Given the description of an element on the screen output the (x, y) to click on. 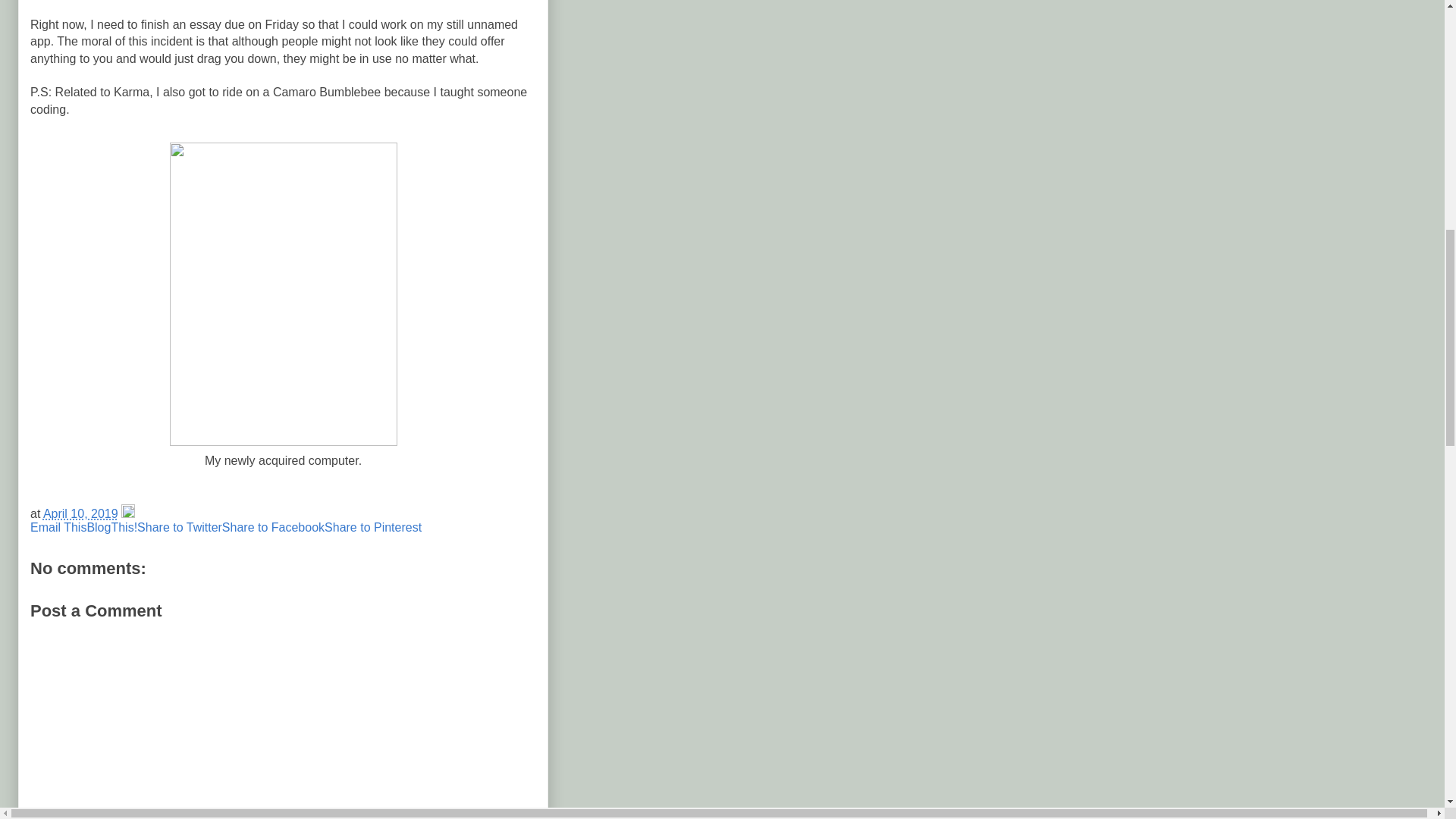
BlogThis! (110, 526)
permanent link (80, 513)
Share to Pinterest (373, 526)
Share to Twitter (179, 526)
Email This (57, 526)
Share to Twitter (179, 526)
Share to Facebook (273, 526)
BlogThis! (110, 526)
Edit Post (127, 513)
Email This (57, 526)
April 10, 2019 (80, 513)
Share to Pinterest (373, 526)
Share to Facebook (273, 526)
